Given the description of an element on the screen output the (x, y) to click on. 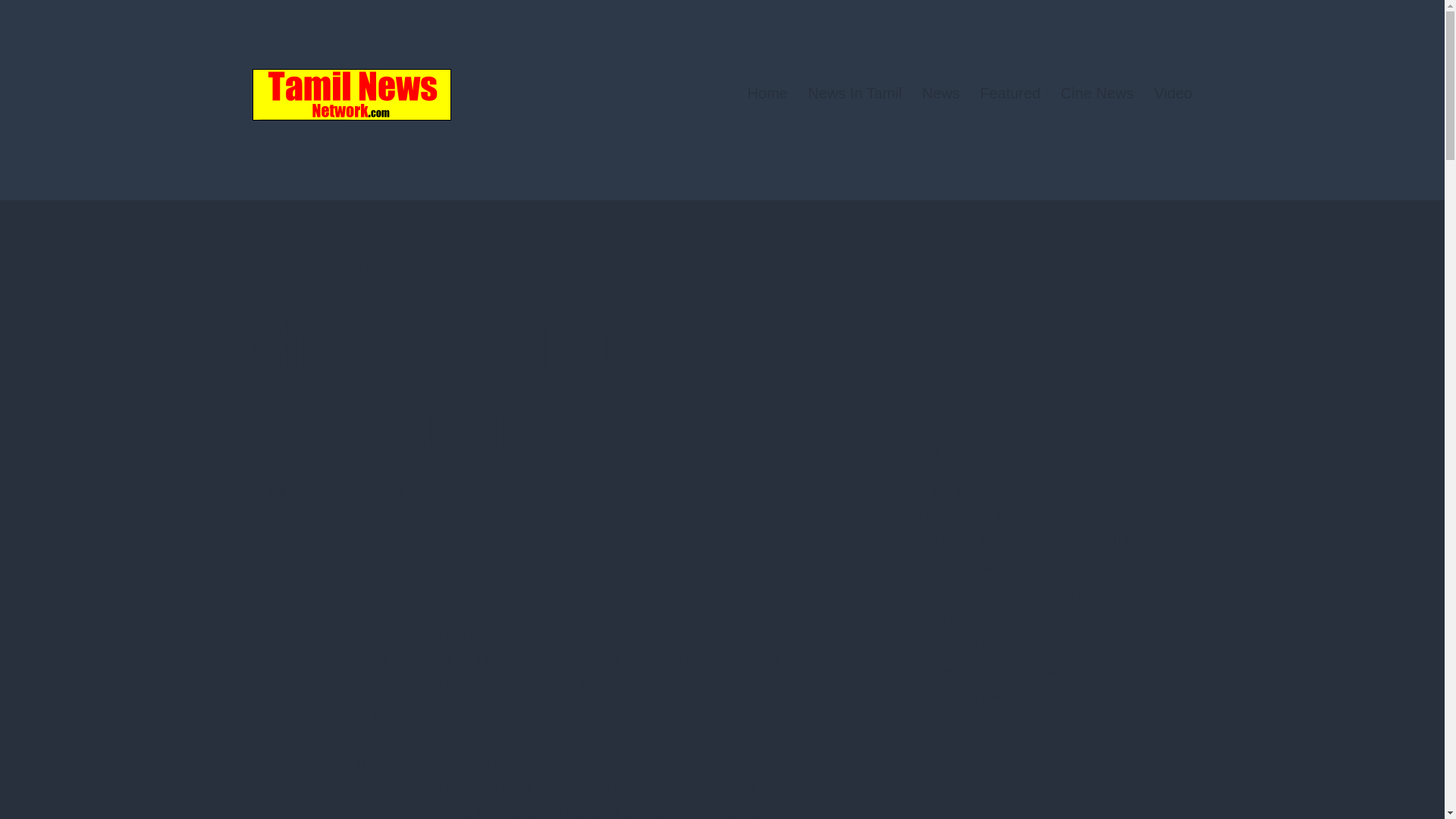
Advertisement (1018, 317)
Contaminated maize sparks fear in Zambia after 400 dogs die (1034, 606)
News (940, 92)
Featured (1009, 92)
Video (1173, 92)
Advertisement (1018, 789)
